Given the description of an element on the screen output the (x, y) to click on. 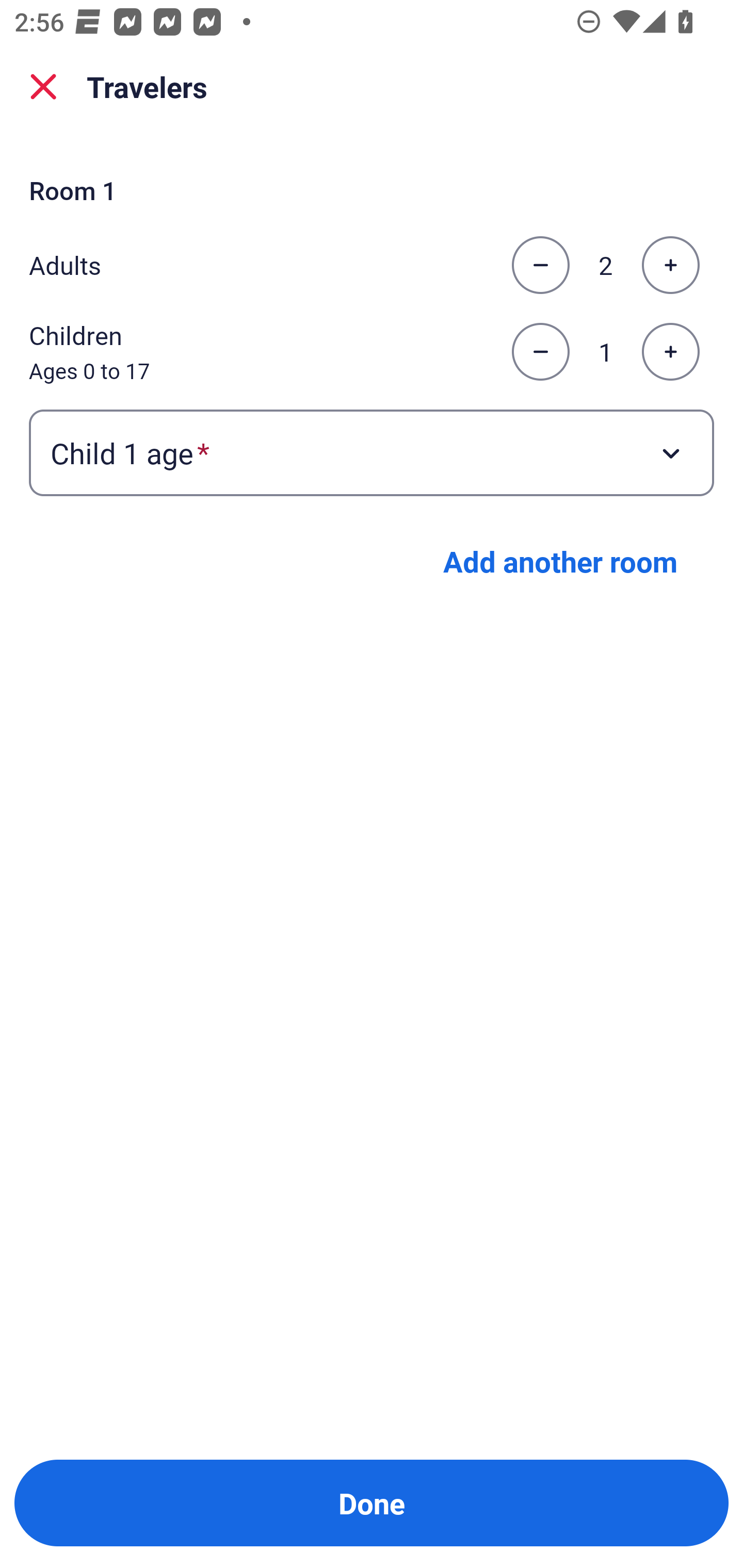
close (43, 86)
Decrease the number of adults (540, 264)
Increase the number of adults (670, 264)
Decrease the number of children (540, 351)
Increase the number of children (670, 351)
Child 1 age required Button (371, 452)
Add another room (560, 561)
Done (371, 1502)
